Given the description of an element on the screen output the (x, y) to click on. 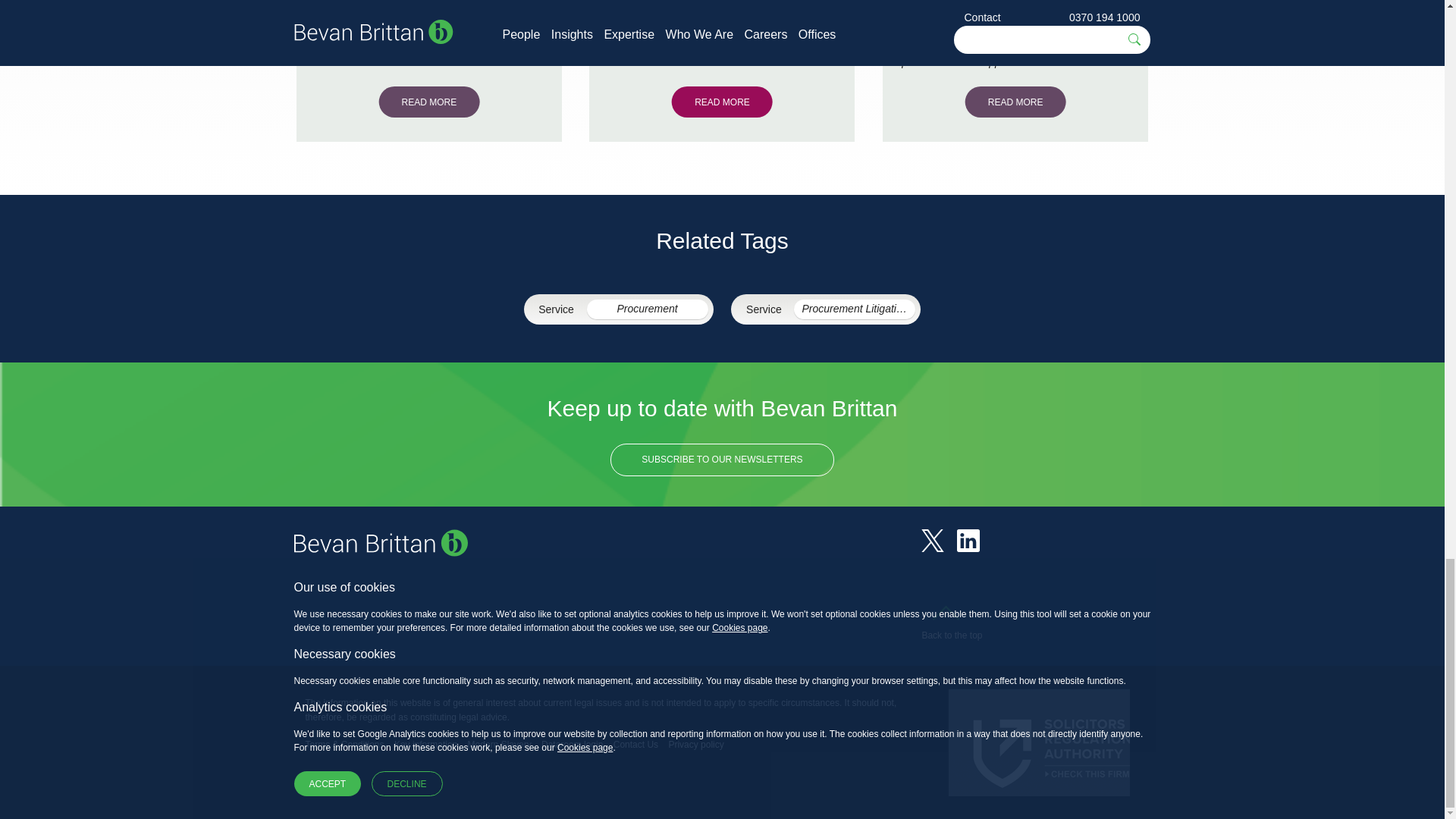
Back to the top (951, 625)
Procurement Litigation (854, 308)
Procurement (646, 308)
